Given the description of an element on the screen output the (x, y) to click on. 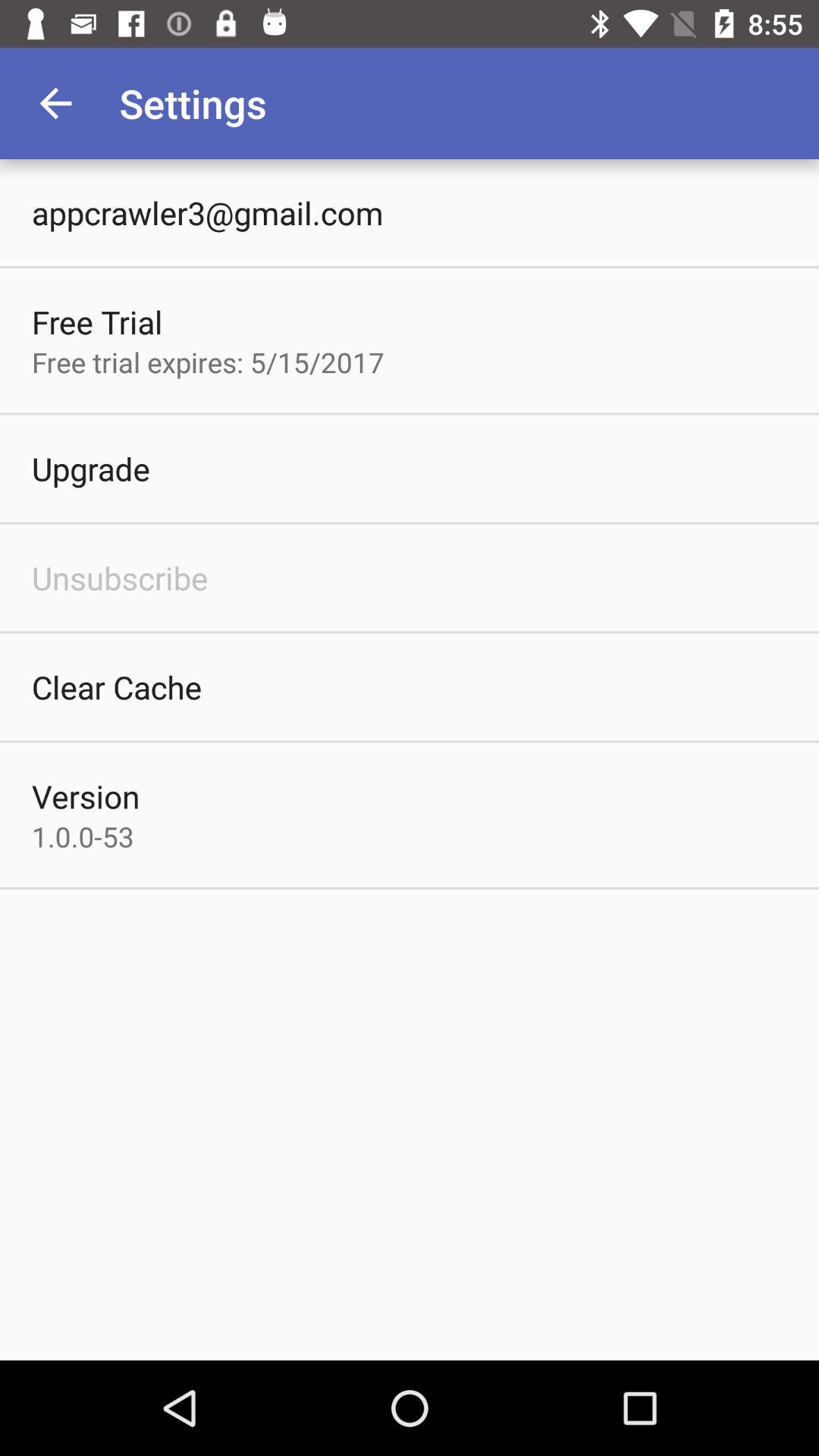
flip to the appcrawler3@gmail.com (207, 212)
